Given the description of an element on the screen output the (x, y) to click on. 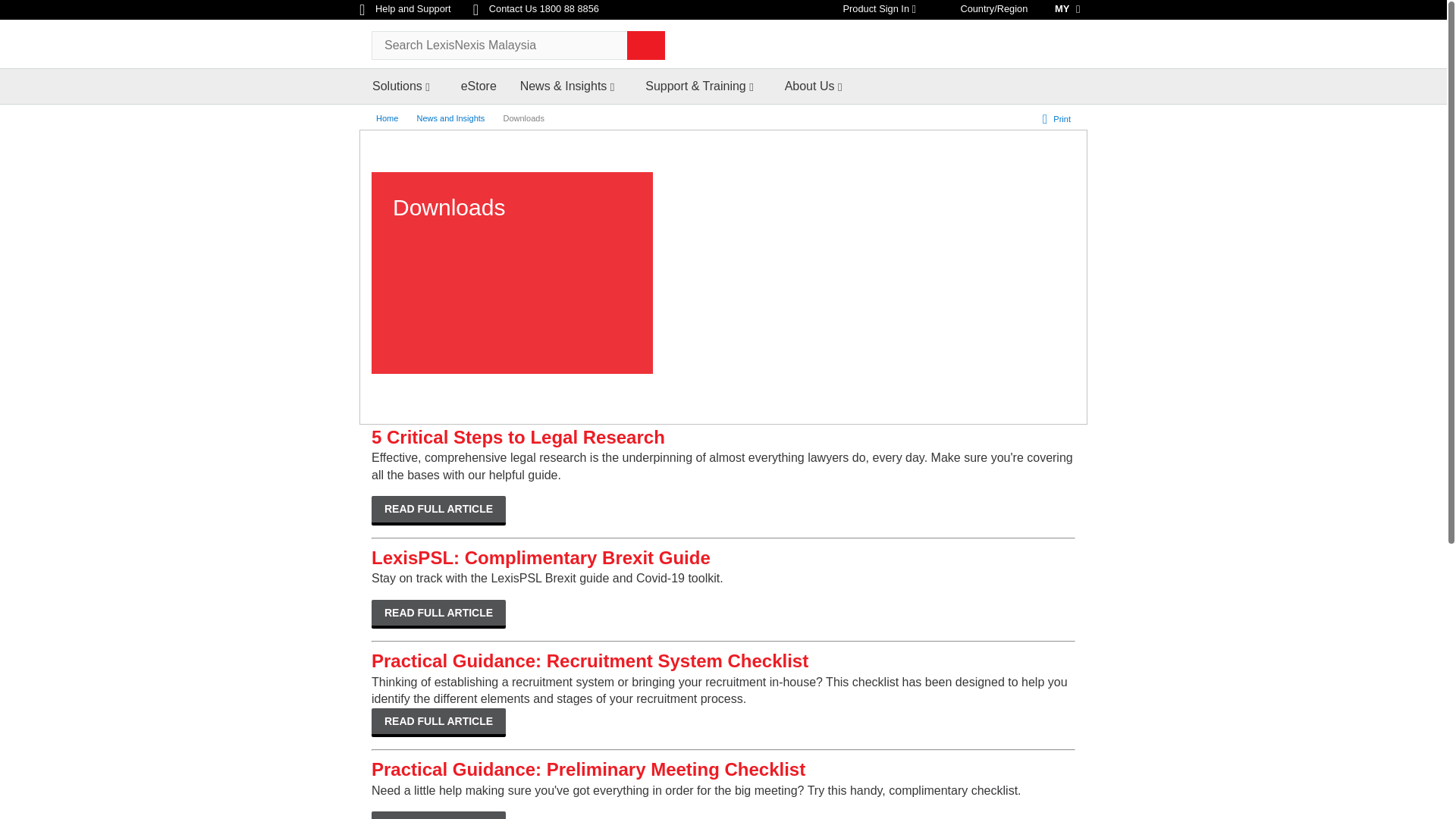
Search (646, 45)
Help and Support (405, 8)
Contact Us 1800 88 8856 (535, 8)
